Given the description of an element on the screen output the (x, y) to click on. 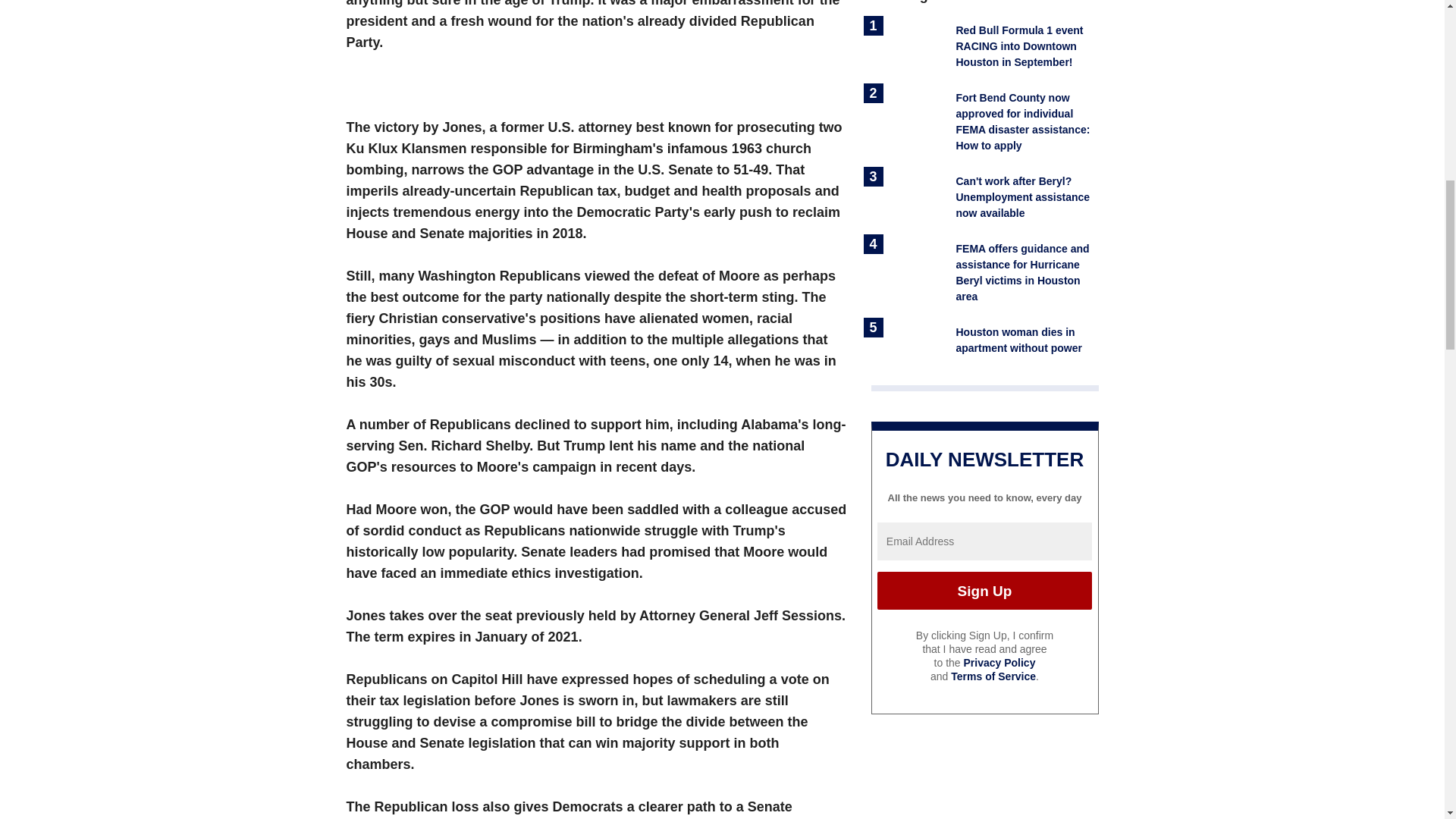
Sign Up (984, 590)
